Given the description of an element on the screen output the (x, y) to click on. 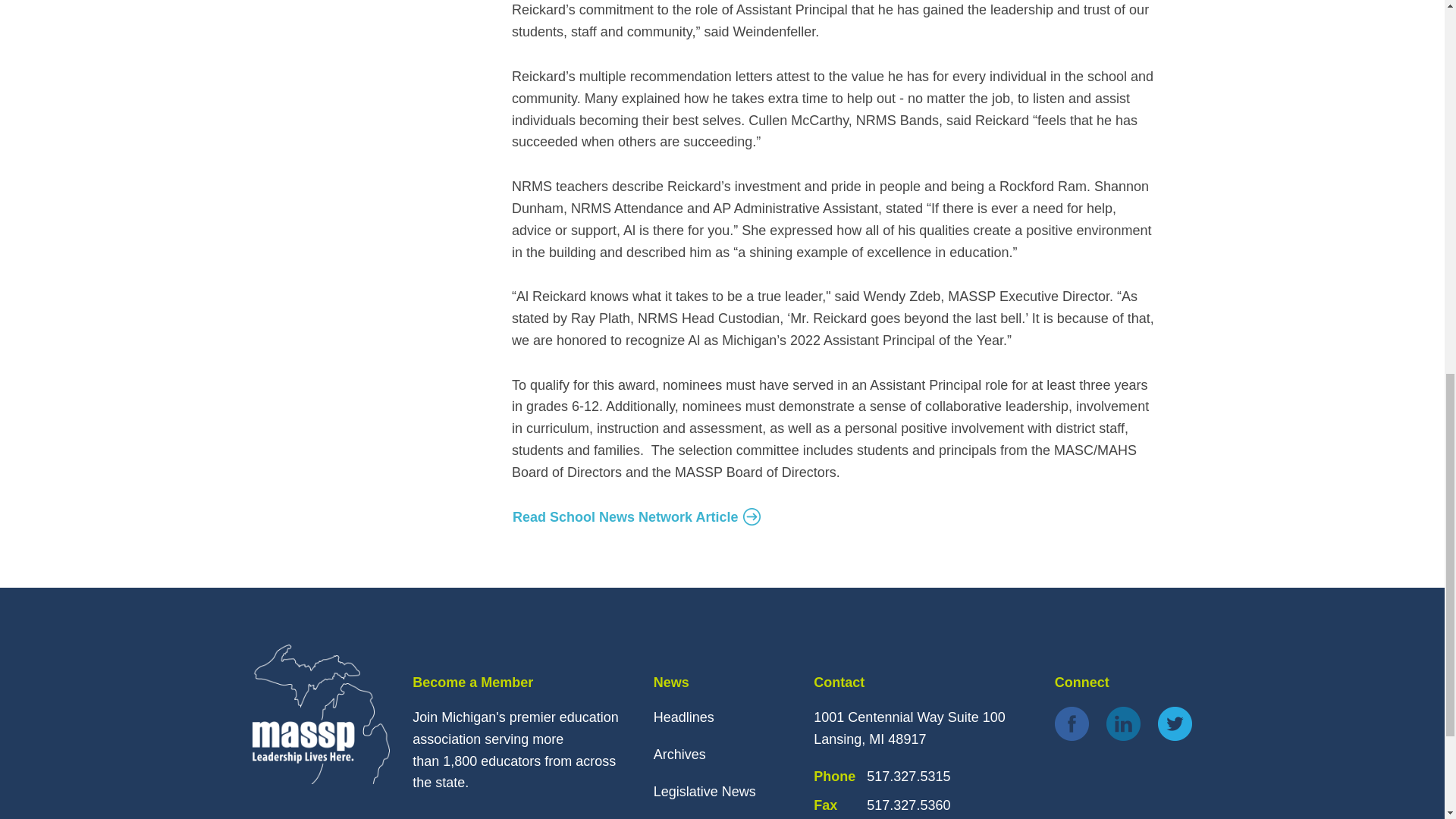
Headlines (683, 717)
Legislative News (704, 791)
Archives (679, 754)
Read School News Network Article (636, 516)
